Given the description of an element on the screen output the (x, y) to click on. 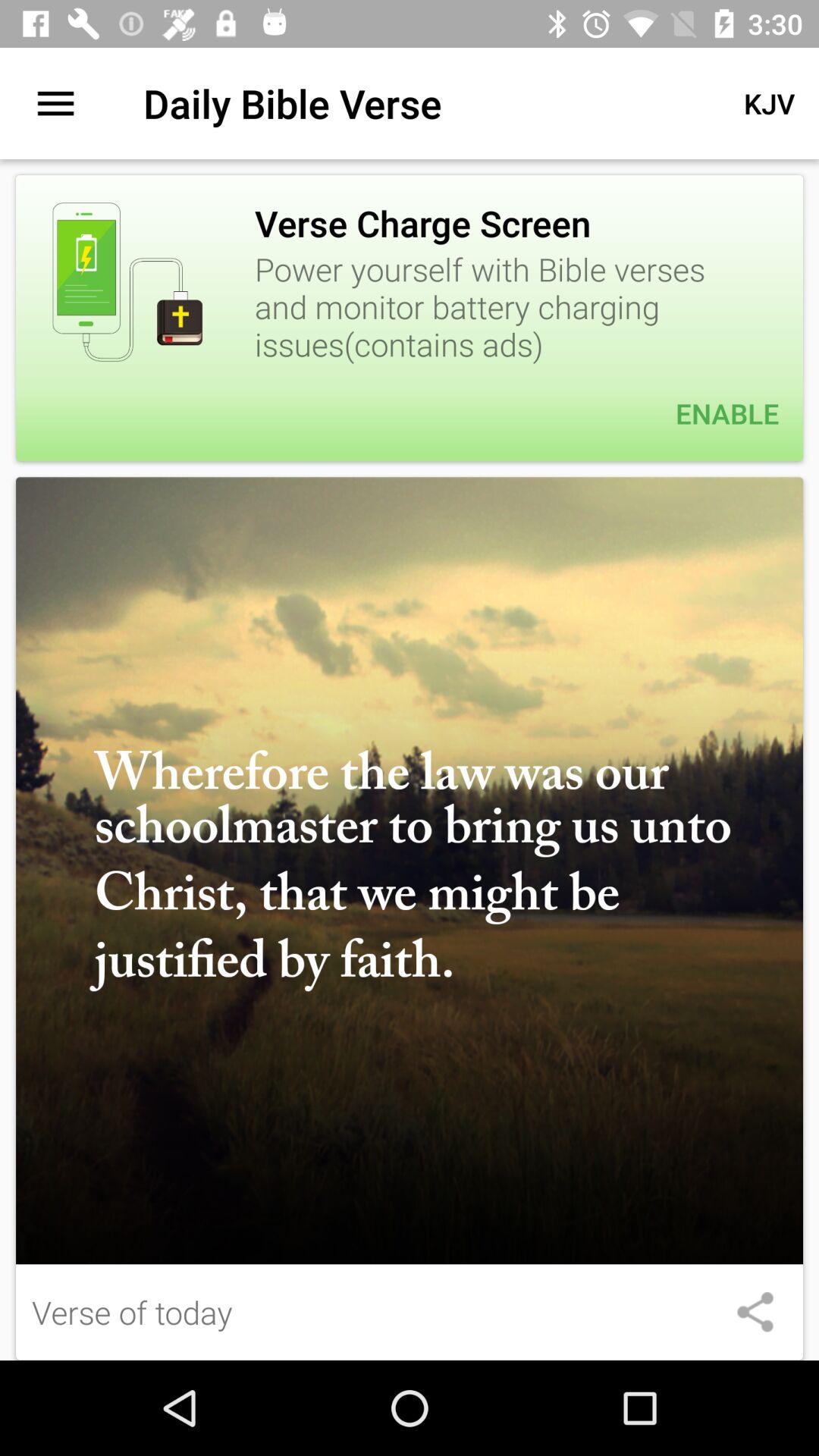
share (755, 1311)
